Given the description of an element on the screen output the (x, y) to click on. 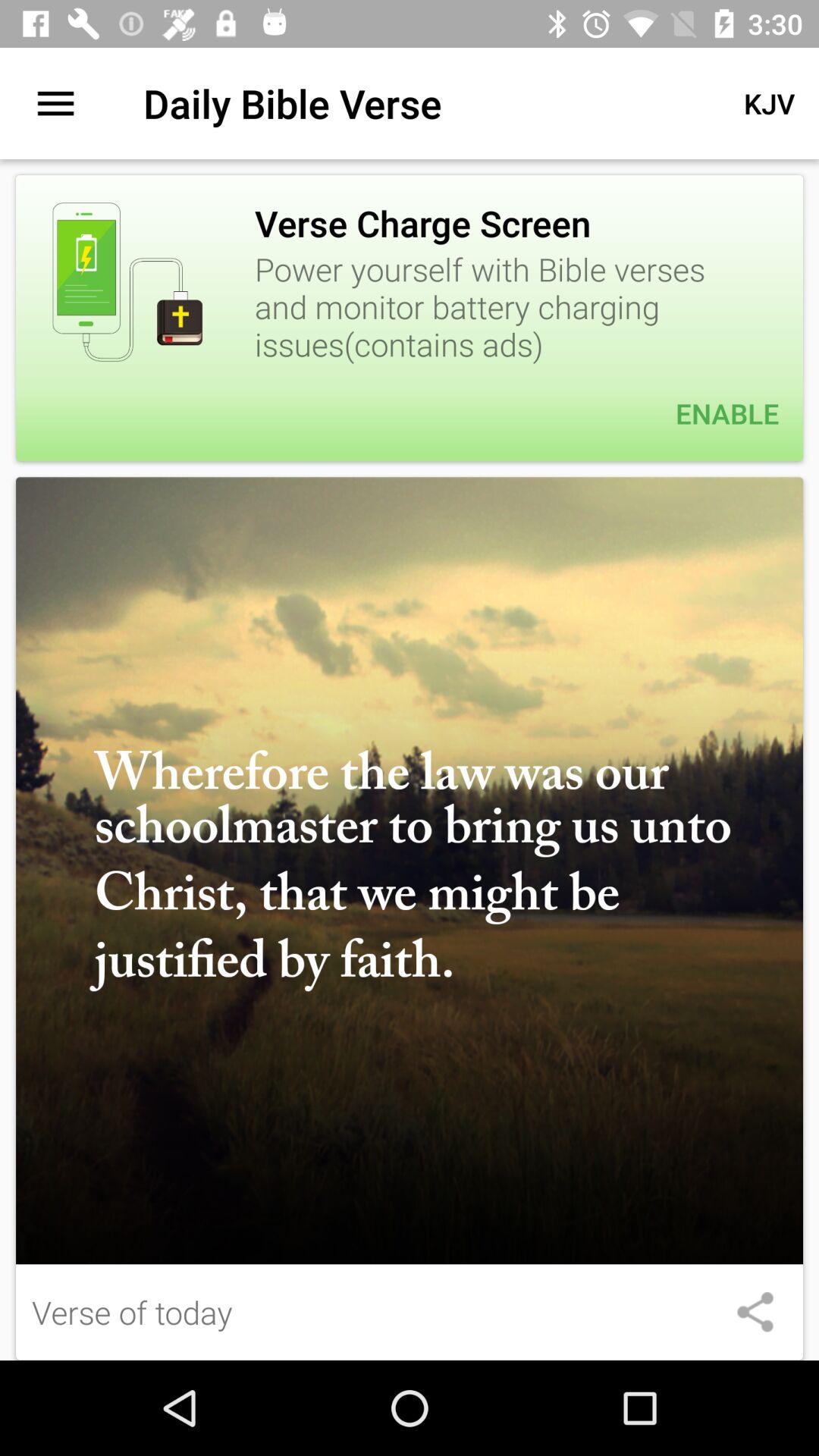
share (755, 1311)
